Given the description of an element on the screen output the (x, y) to click on. 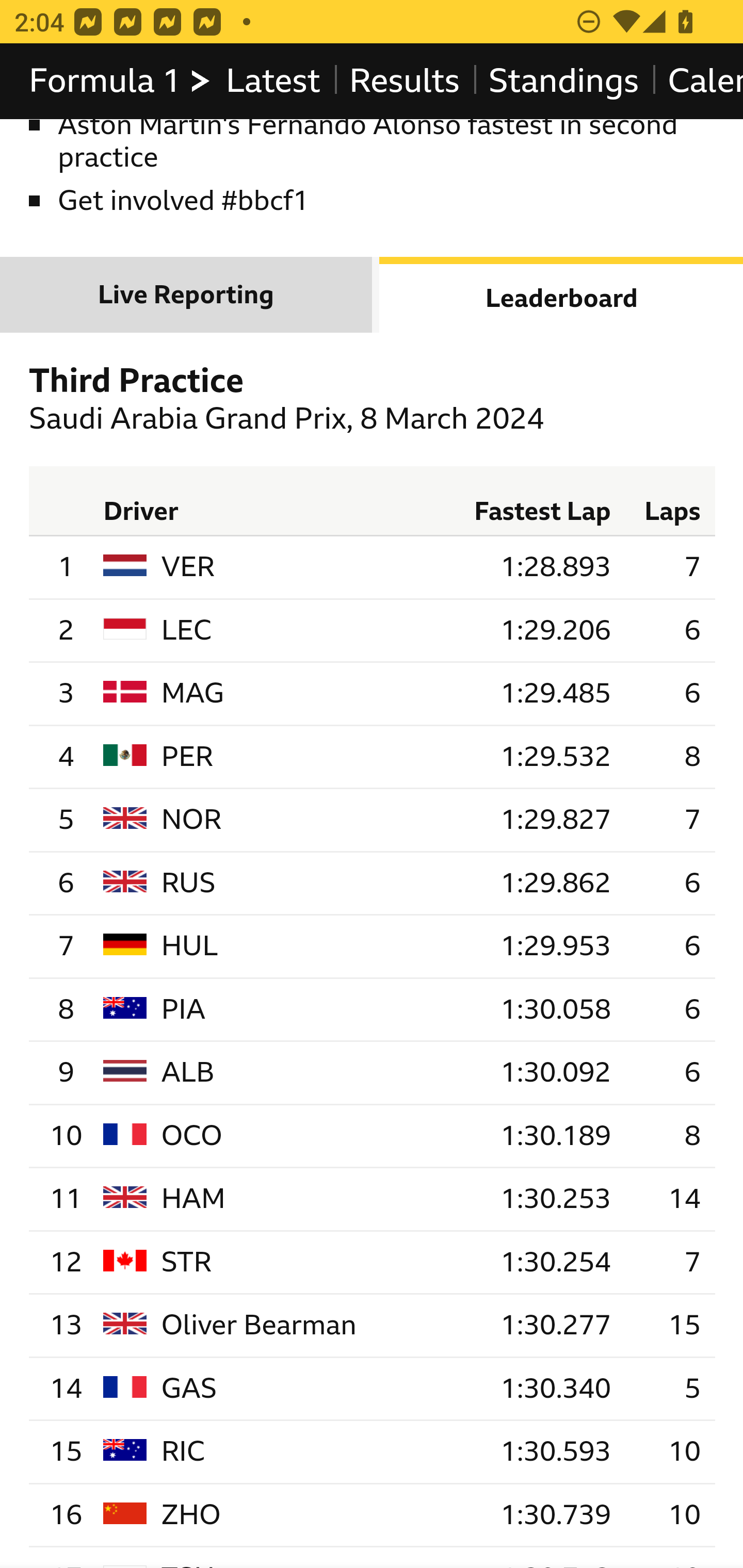
Live Reporting (186, 295)
Leaderboard (560, 295)
